Given the description of an element on the screen output the (x, y) to click on. 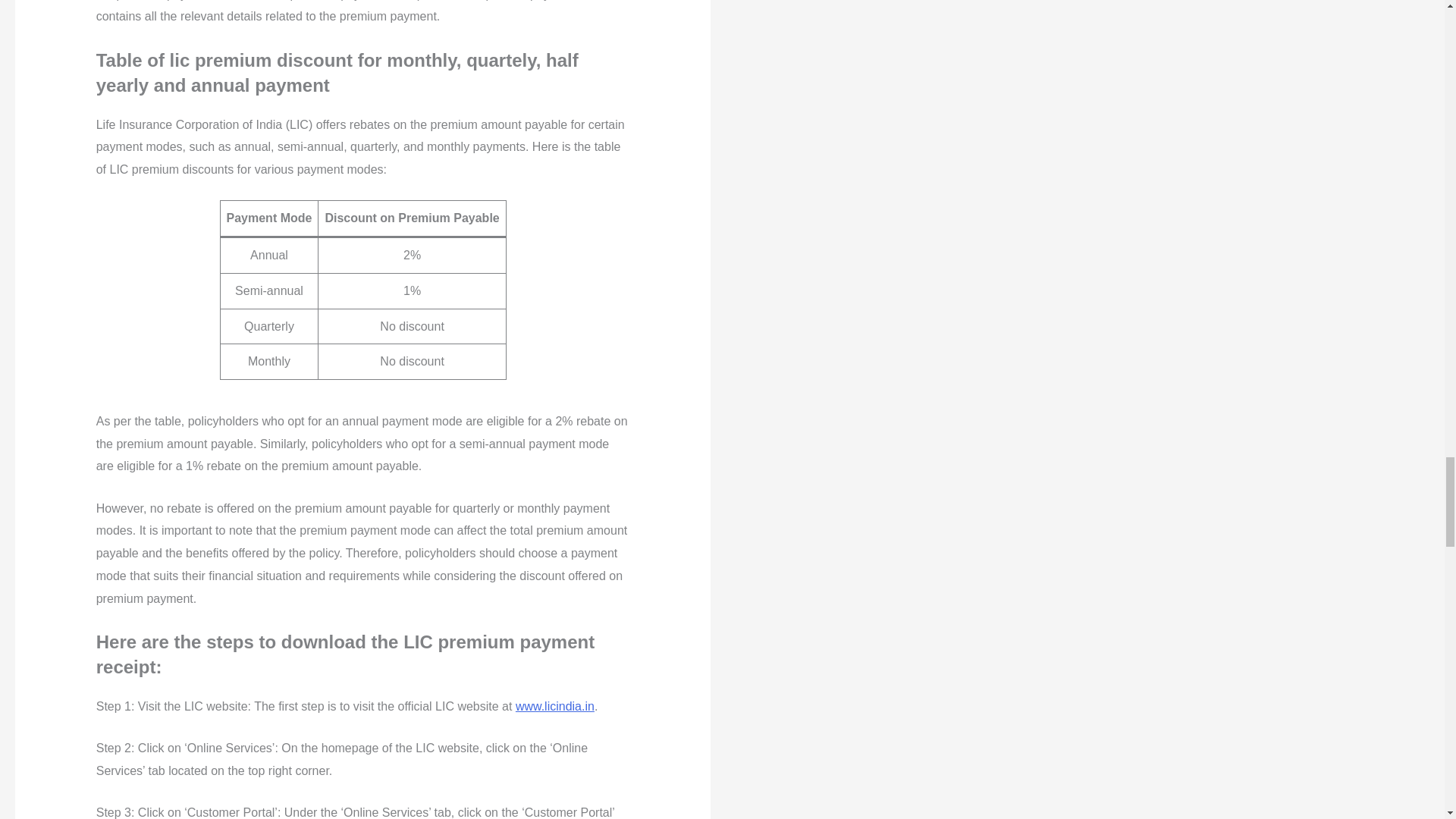
www.licindia.in (554, 706)
